Given the description of an element on the screen output the (x, y) to click on. 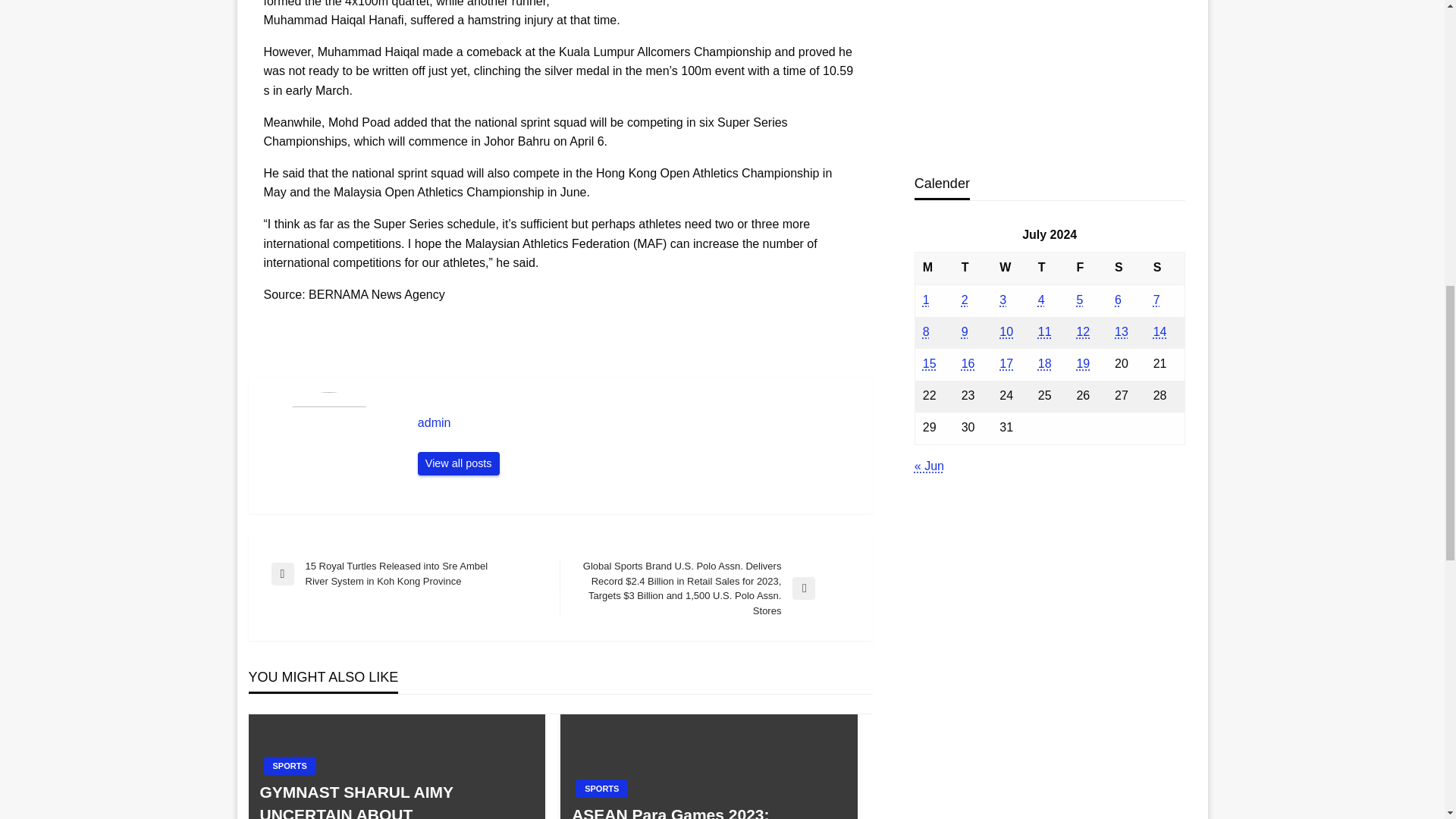
admin (637, 422)
admin (637, 422)
Monday (933, 267)
Saturday (1125, 267)
Advertisement (1046, 74)
Sunday (1165, 267)
SPORTS (601, 788)
Tuesday (972, 267)
Wednesday (1010, 267)
SPORTS (289, 765)
View all posts (458, 463)
Thursday (1049, 267)
Friday (1087, 267)
admin (458, 463)
